Given the description of an element on the screen output the (x, y) to click on. 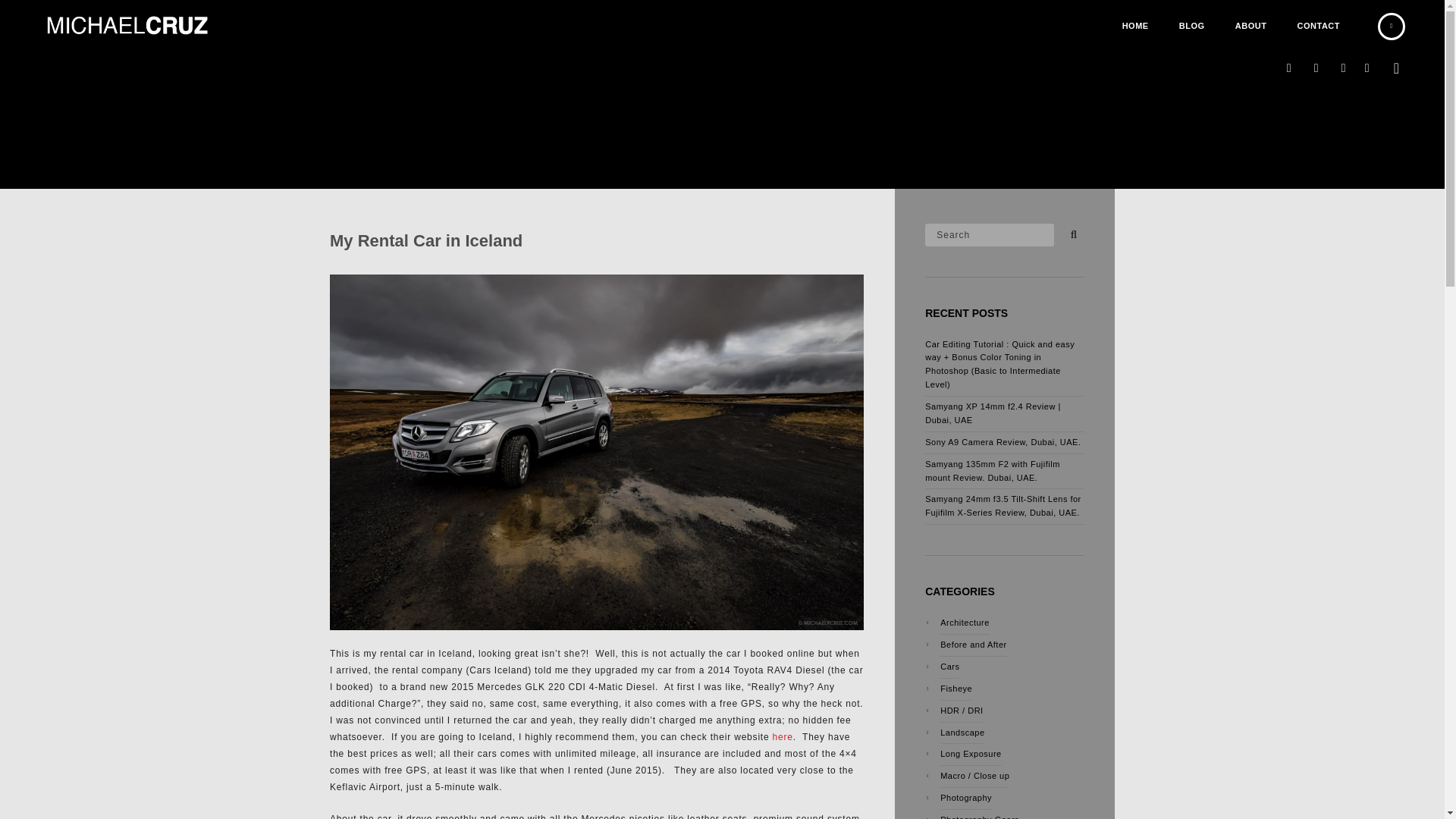
Facebook (1366, 68)
Flickr (1315, 68)
Home Page (1134, 26)
BLOG (1192, 26)
Instagram (1289, 68)
Twitter (1343, 68)
CONTACT (1319, 26)
Search (1070, 231)
ABOUT (1251, 26)
here (783, 737)
